Given the description of an element on the screen output the (x, y) to click on. 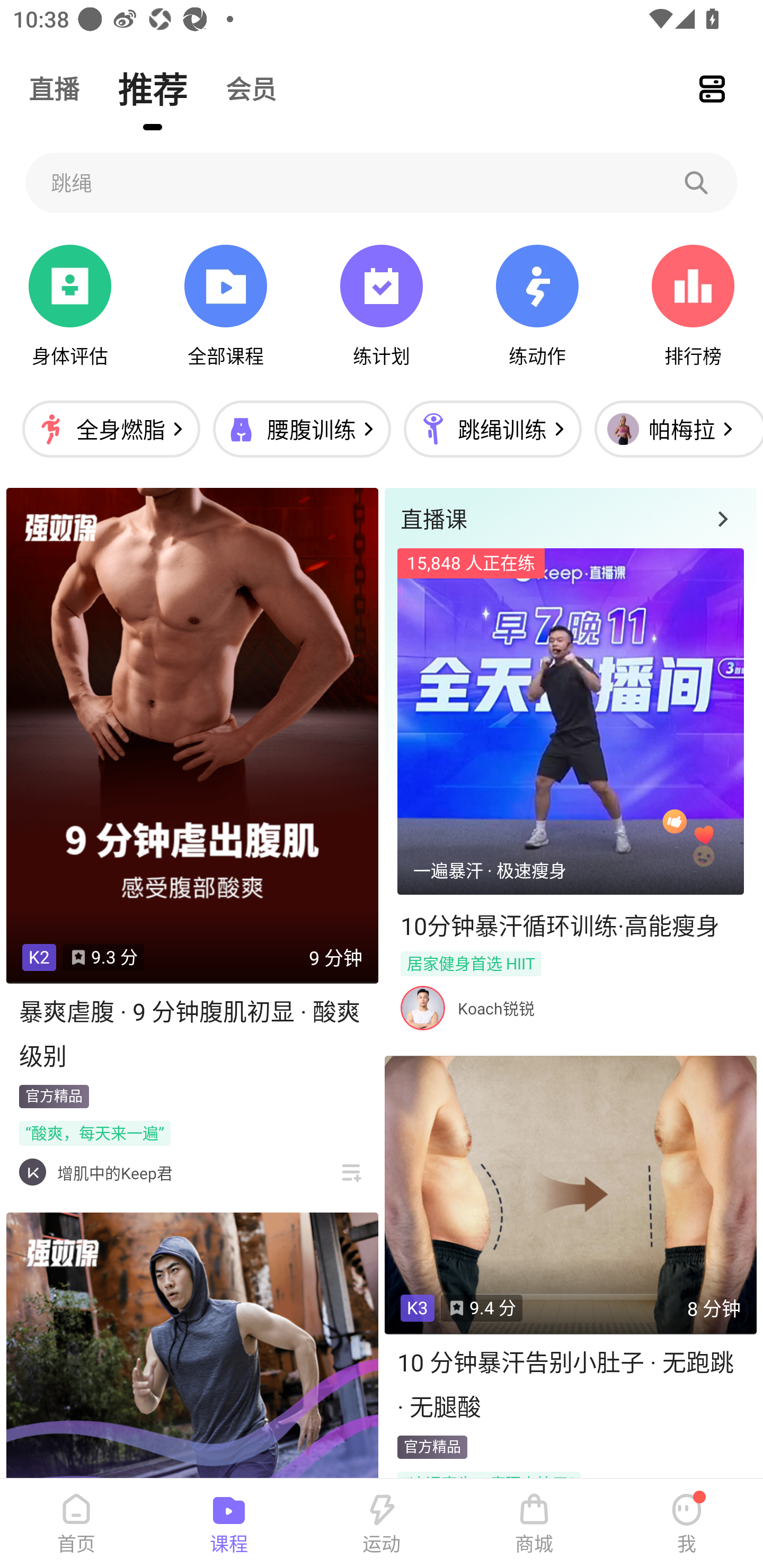
直播 (53, 88)
推荐 (152, 88)
会员 (251, 88)
跳绳 (381, 182)
身体评估 (69, 306)
全部课程 (225, 306)
练计划 (381, 306)
练动作 (537, 306)
排行榜 (692, 306)
全身燃脂 更多 (110, 428)
腰腹训练 更多 (301, 428)
跳绳训练 更多 (492, 428)
帕梅拉 更多 (673, 428)
直播课 (570, 517)
Koach锐锐 (495, 1008)
增肌中的Keep君 (114, 1172)
首页 (76, 1523)
课程 (228, 1523)
运动 (381, 1523)
商城 (533, 1523)
我 (686, 1523)
